Given the description of an element on the screen output the (x, y) to click on. 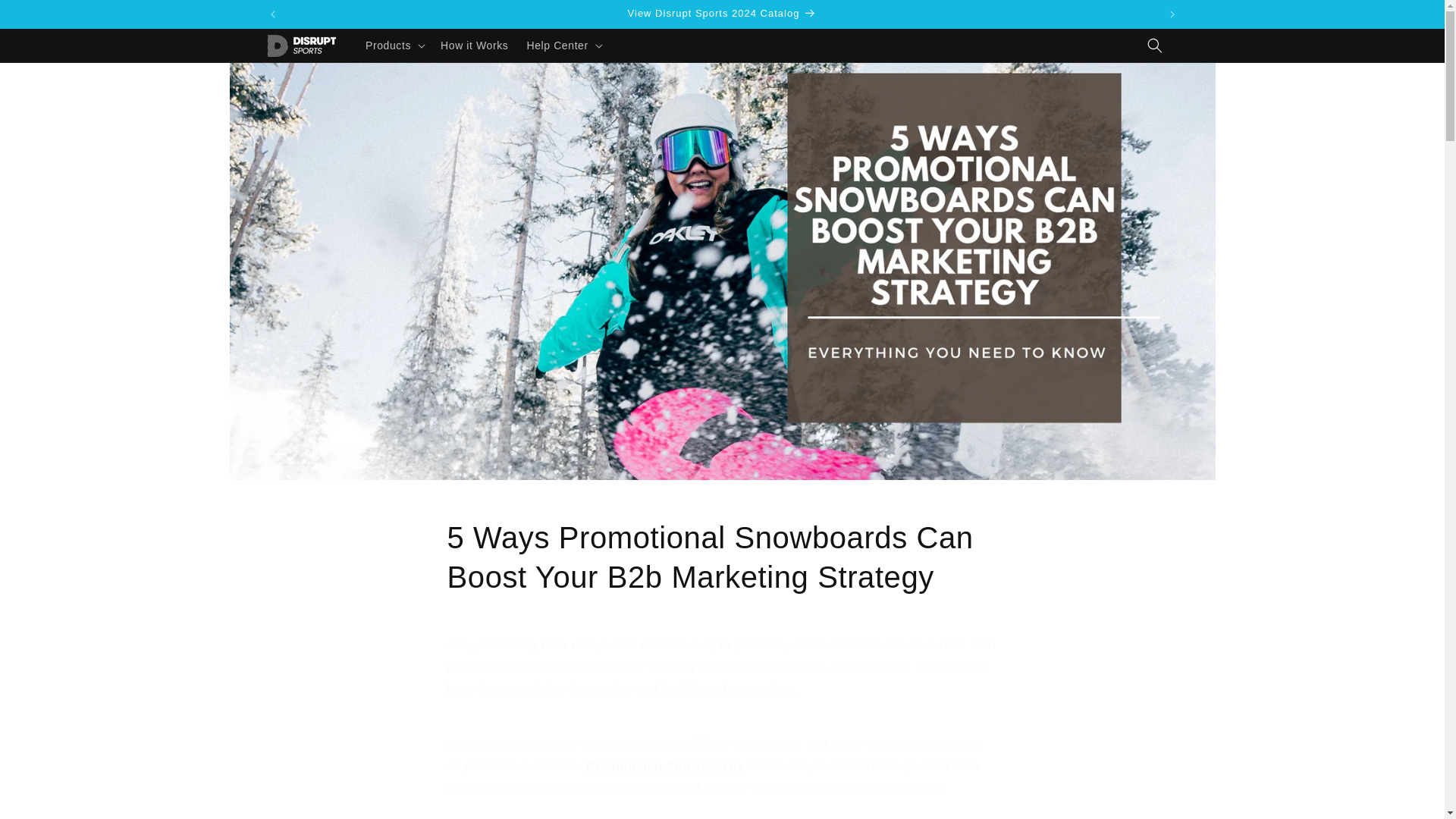
Promotional Snowboards (665, 766)
View Disrupt Sports 2024 Catalog (722, 14)
Skip to content (45, 17)
